Given the description of an element on the screen output the (x, y) to click on. 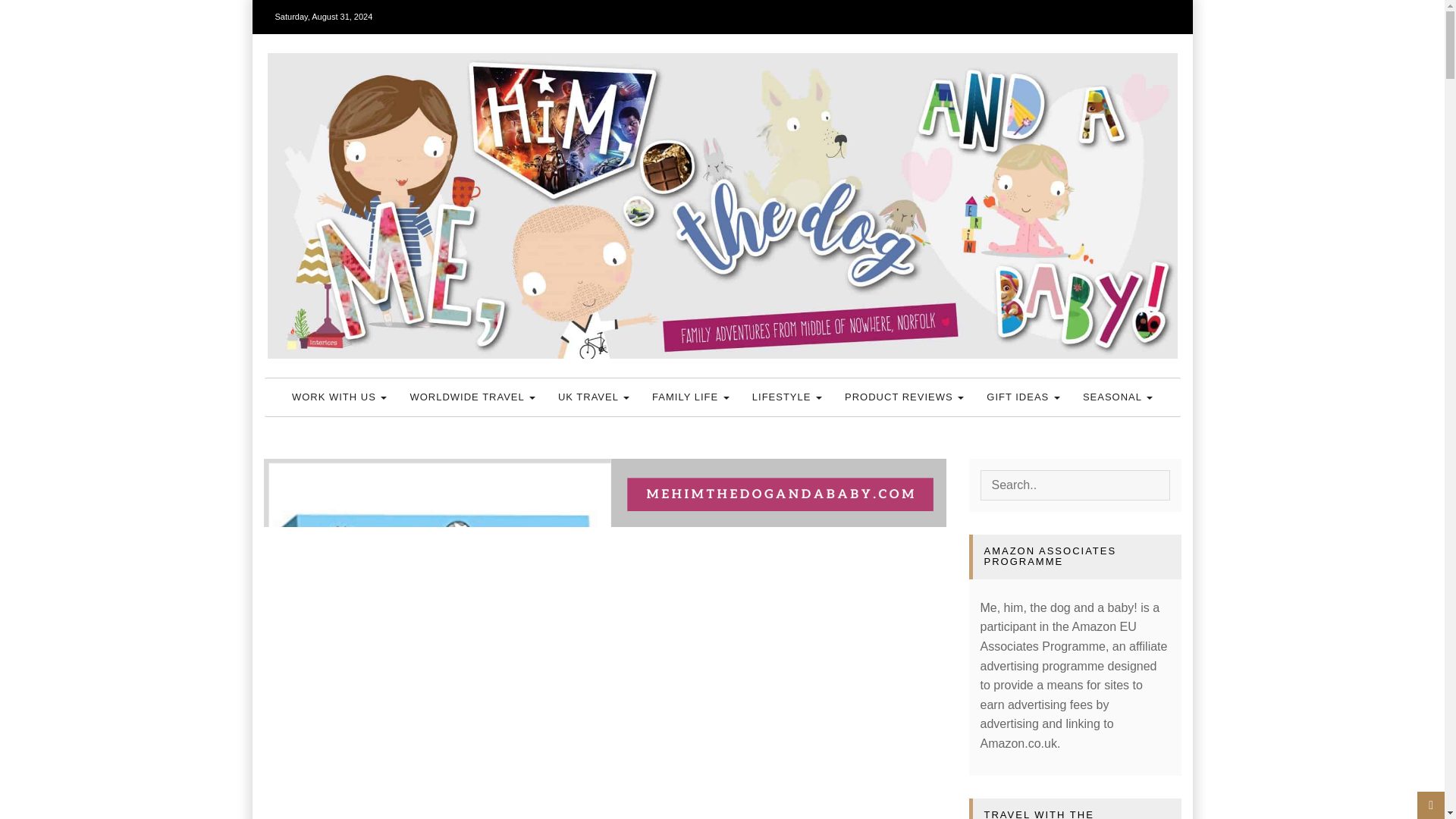
UK TRAVEL (593, 397)
WORK WITH US (339, 397)
WORLDWIDE TRAVEL (471, 397)
Worldwide Travel (471, 397)
Work With Us (339, 397)
